Given the description of an element on the screen output the (x, y) to click on. 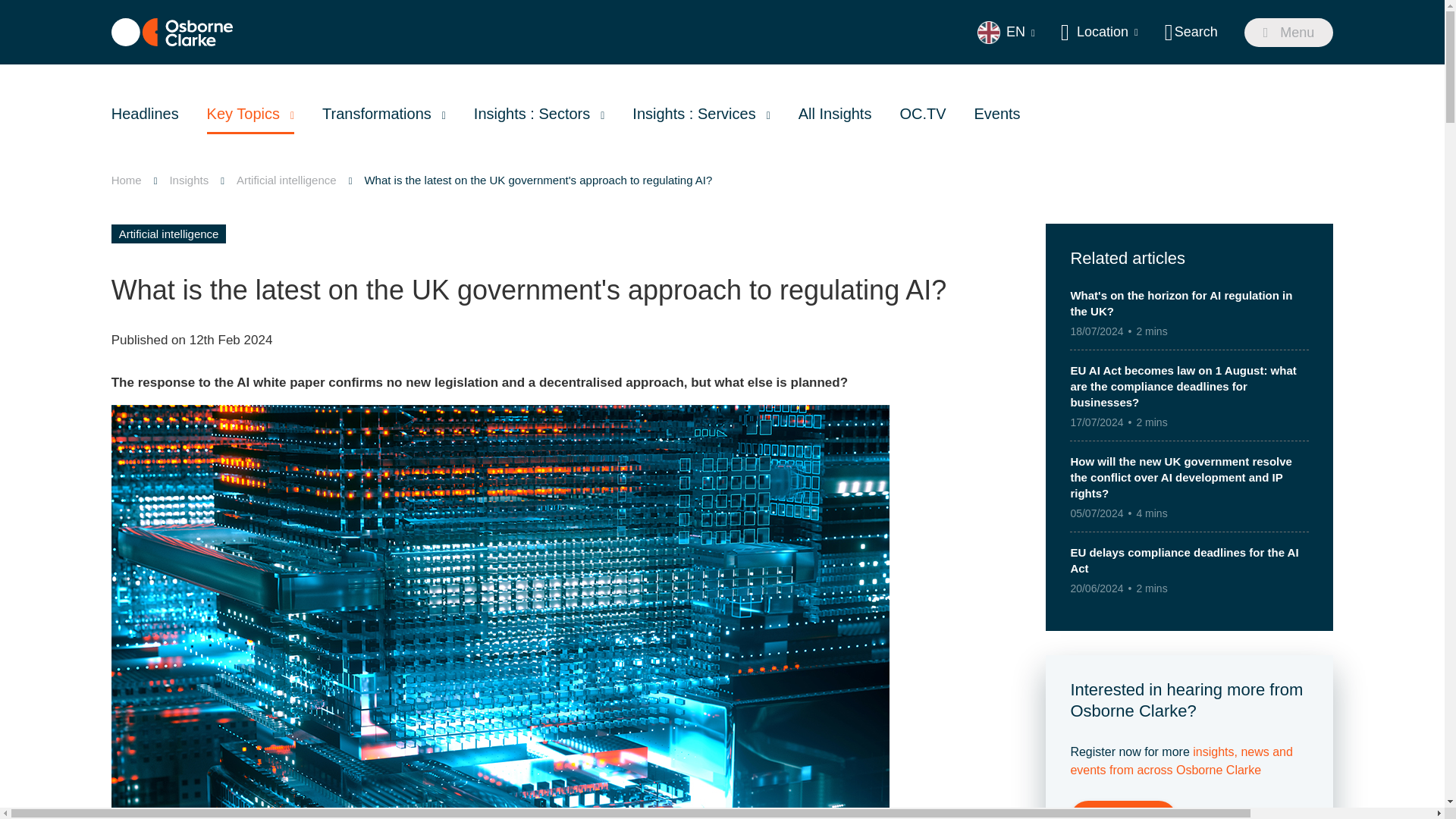
Osborne Clarke (172, 32)
Menu (1288, 32)
